Given the description of an element on the screen output the (x, y) to click on. 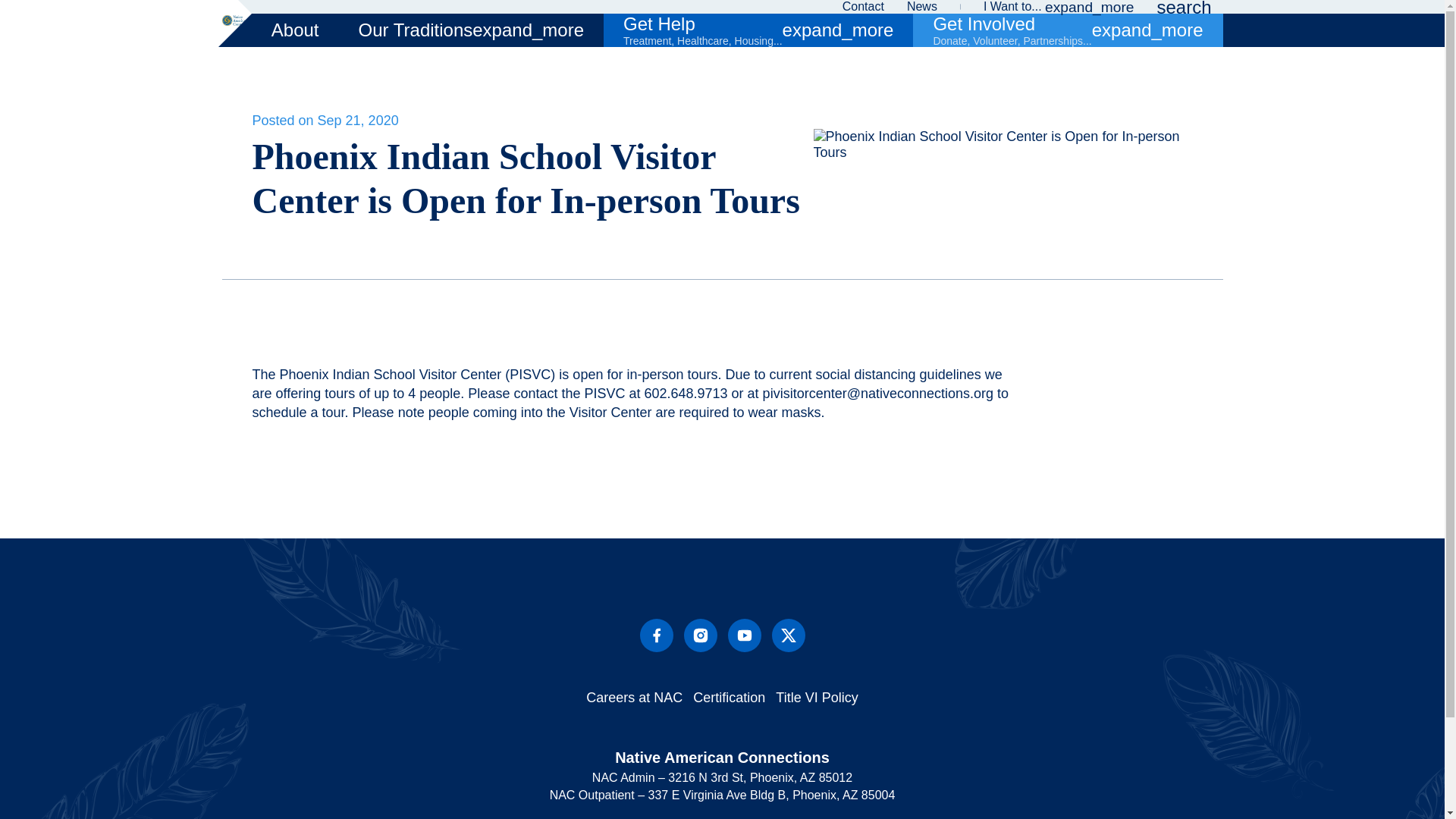
About (295, 29)
Title VI Policy (816, 697)
Youtube (744, 635)
Instagram (700, 635)
X (788, 635)
Contact (863, 6)
Facebook (656, 635)
News (922, 6)
Certification (729, 697)
Careers at NAC (634, 697)
